Given the description of an element on the screen output the (x, y) to click on. 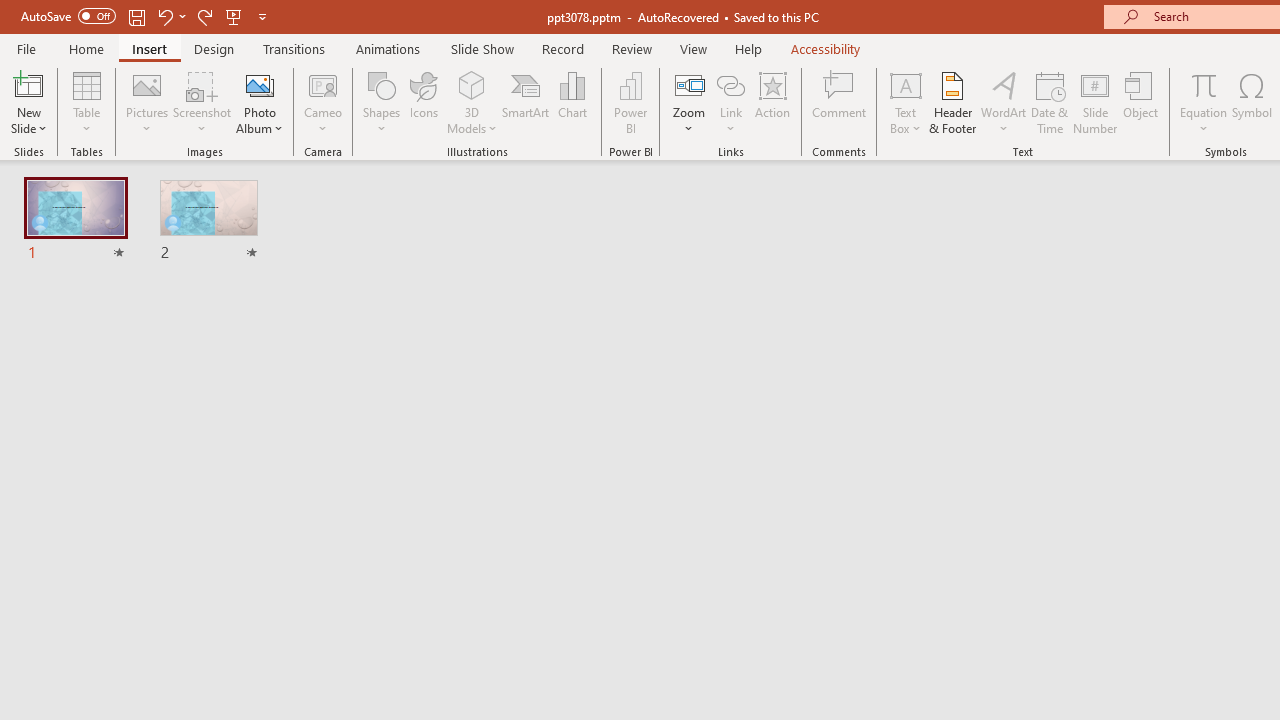
3D Models (472, 84)
Comment (839, 102)
Chart... (572, 102)
Date & Time... (1050, 102)
Pictures (147, 102)
New Slide (28, 102)
Equation (1203, 102)
New Photo Album... (259, 84)
Slide (208, 221)
New Slide (28, 84)
Accessibility (825, 48)
Symbol... (1252, 102)
